Given the description of an element on the screen output the (x, y) to click on. 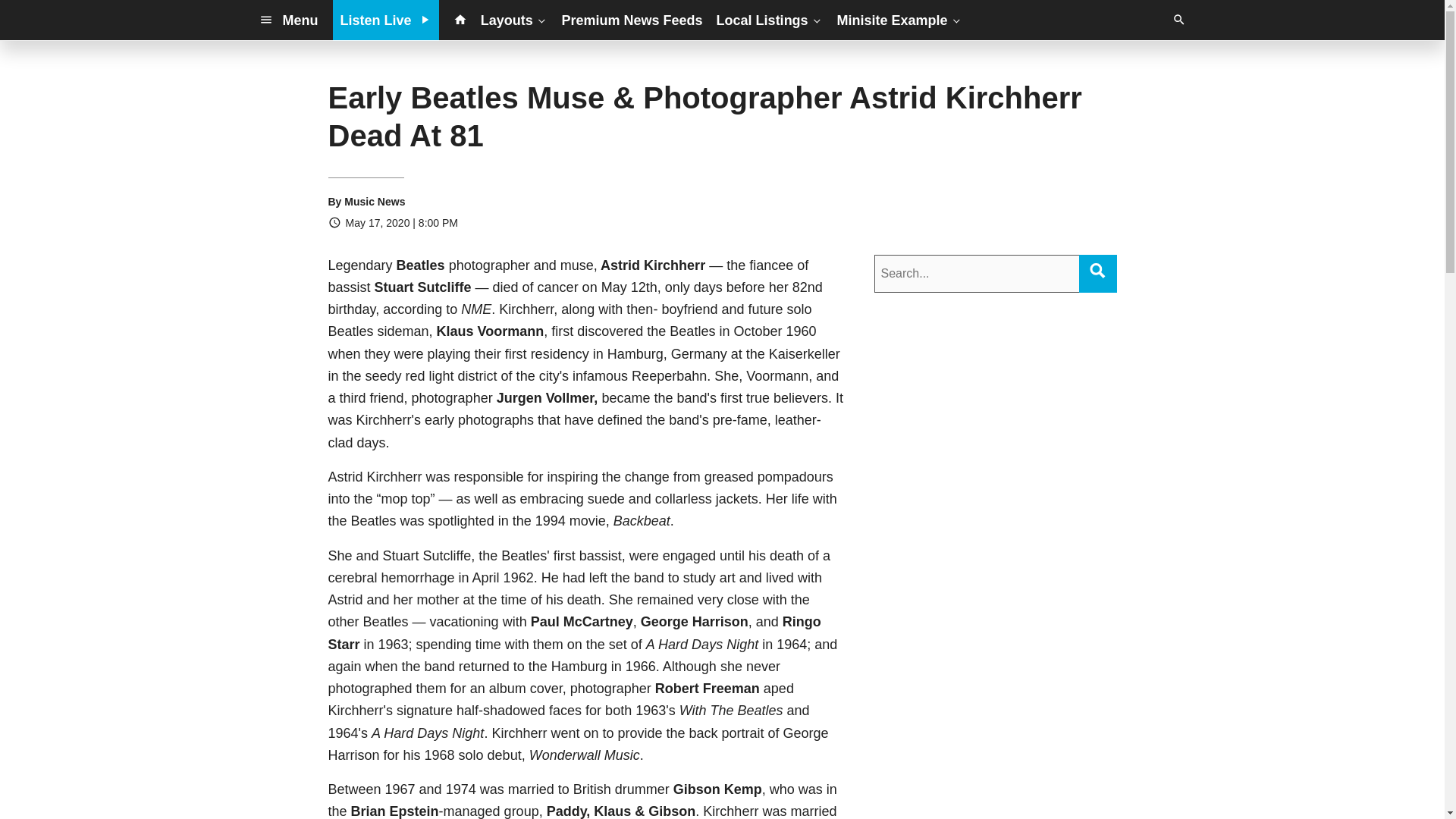
Premium News Feeds (632, 19)
Listen Live (386, 20)
Local Listings (769, 19)
Menu (287, 19)
Minisite Example (899, 19)
Search (1097, 269)
Layouts (514, 19)
